Given the description of an element on the screen output the (x, y) to click on. 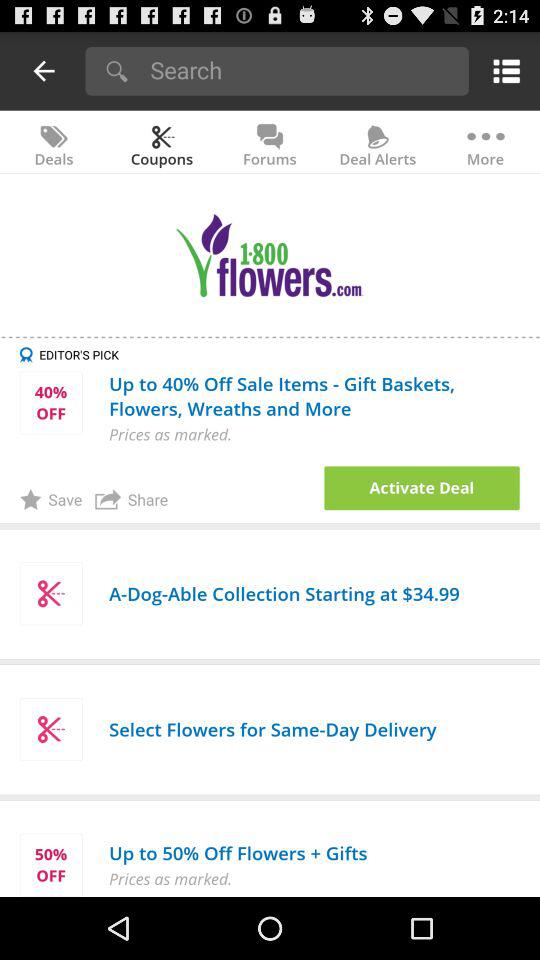
click item next to the share (422, 488)
